Given the description of an element on the screen output the (x, y) to click on. 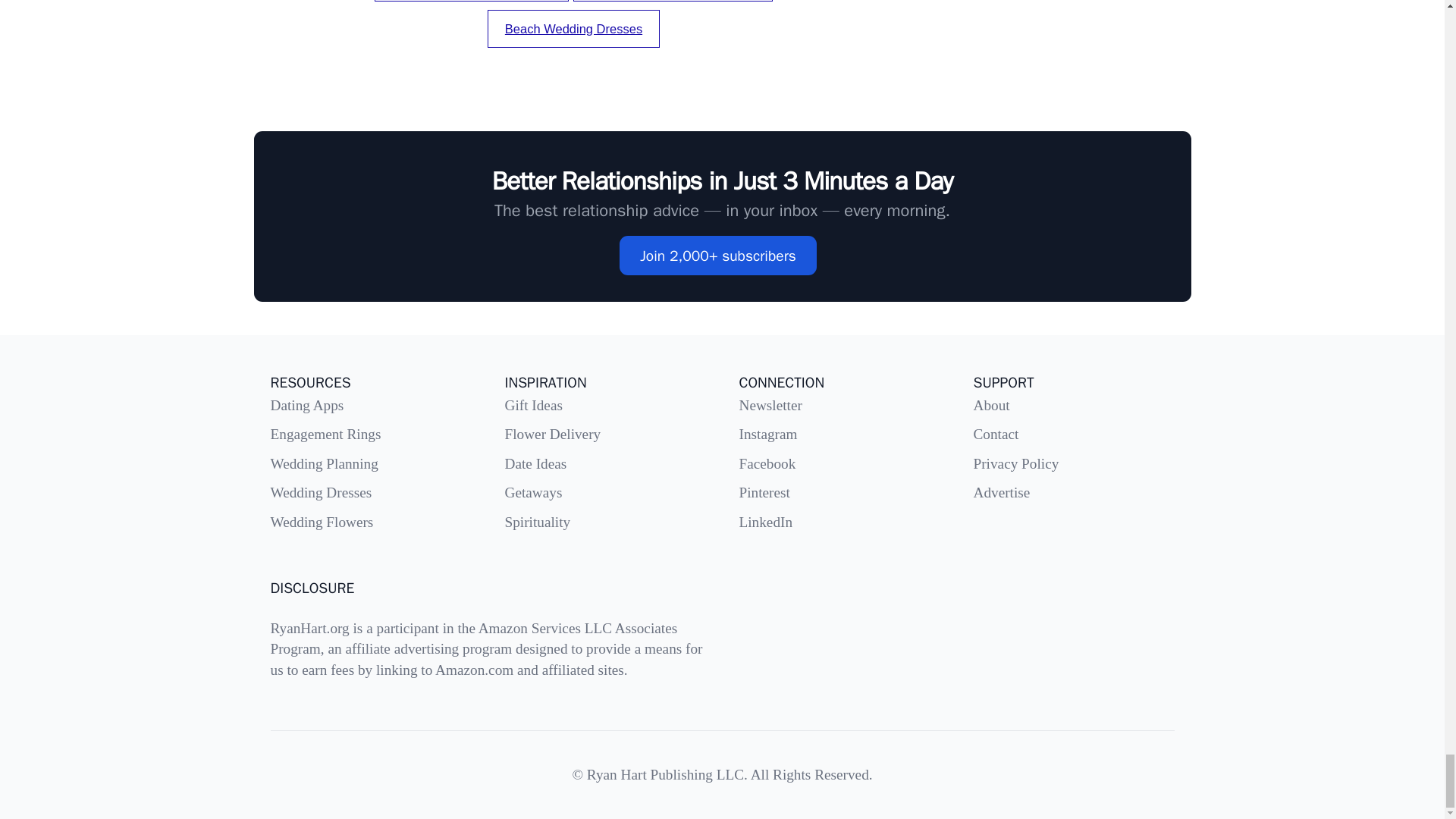
Getaways (533, 492)
Beach Wedding Dresses (573, 28)
Date Ideas (536, 463)
Wedding Dresses (320, 492)
Spirituality (537, 521)
Wedding Flowers (320, 521)
Engagement Rings (324, 433)
Dating Apps (306, 405)
Flower Delivery (553, 433)
